Given the description of an element on the screen output the (x, y) to click on. 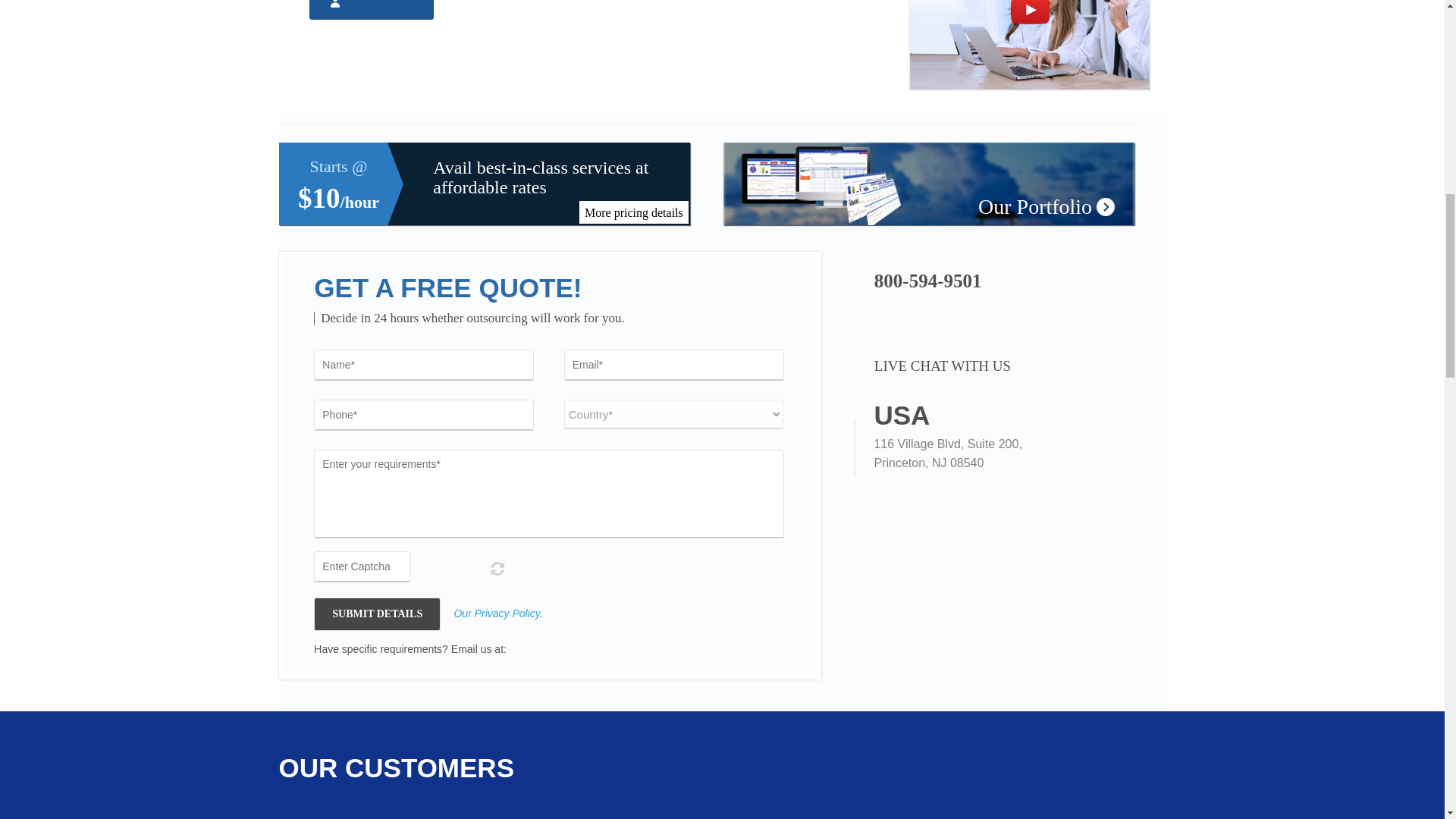
SUBMIT DETAILS (377, 613)
